Given the description of an element on the screen output the (x, y) to click on. 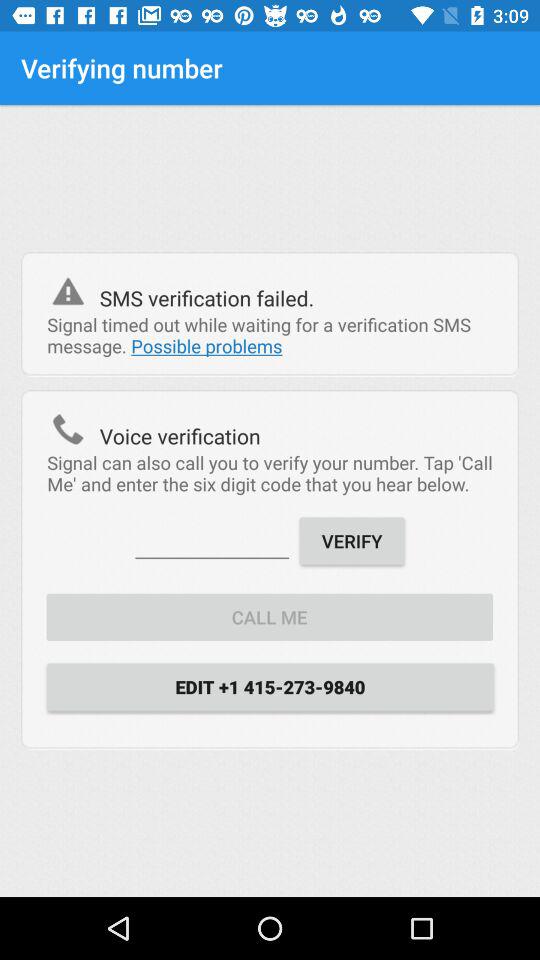
jump to the edit 1 415 icon (270, 686)
